Given the description of an element on the screen output the (x, y) to click on. 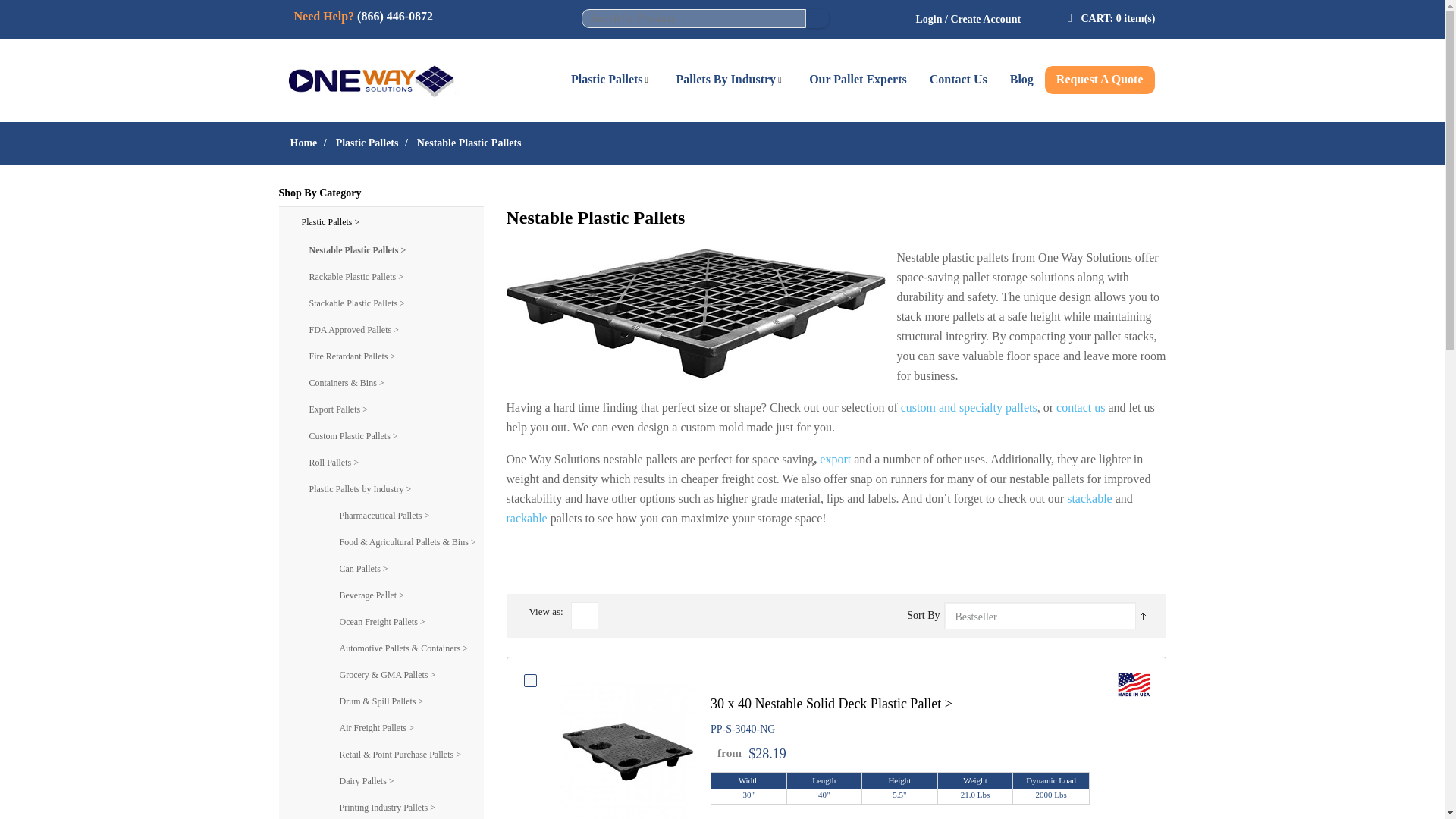
Plastic Pallets (367, 142)
Pallets By Industry (731, 80)
Contact Us (958, 80)
Request A Quote (1099, 80)
Oneway Solutions (381, 75)
Home (303, 142)
Go to Home Page (303, 142)
Need Help? (324, 15)
Search (817, 18)
Blog (1021, 80)
Plastic Pallets (612, 80)
Our Pallet Experts (857, 80)
